Given the description of an element on the screen output the (x, y) to click on. 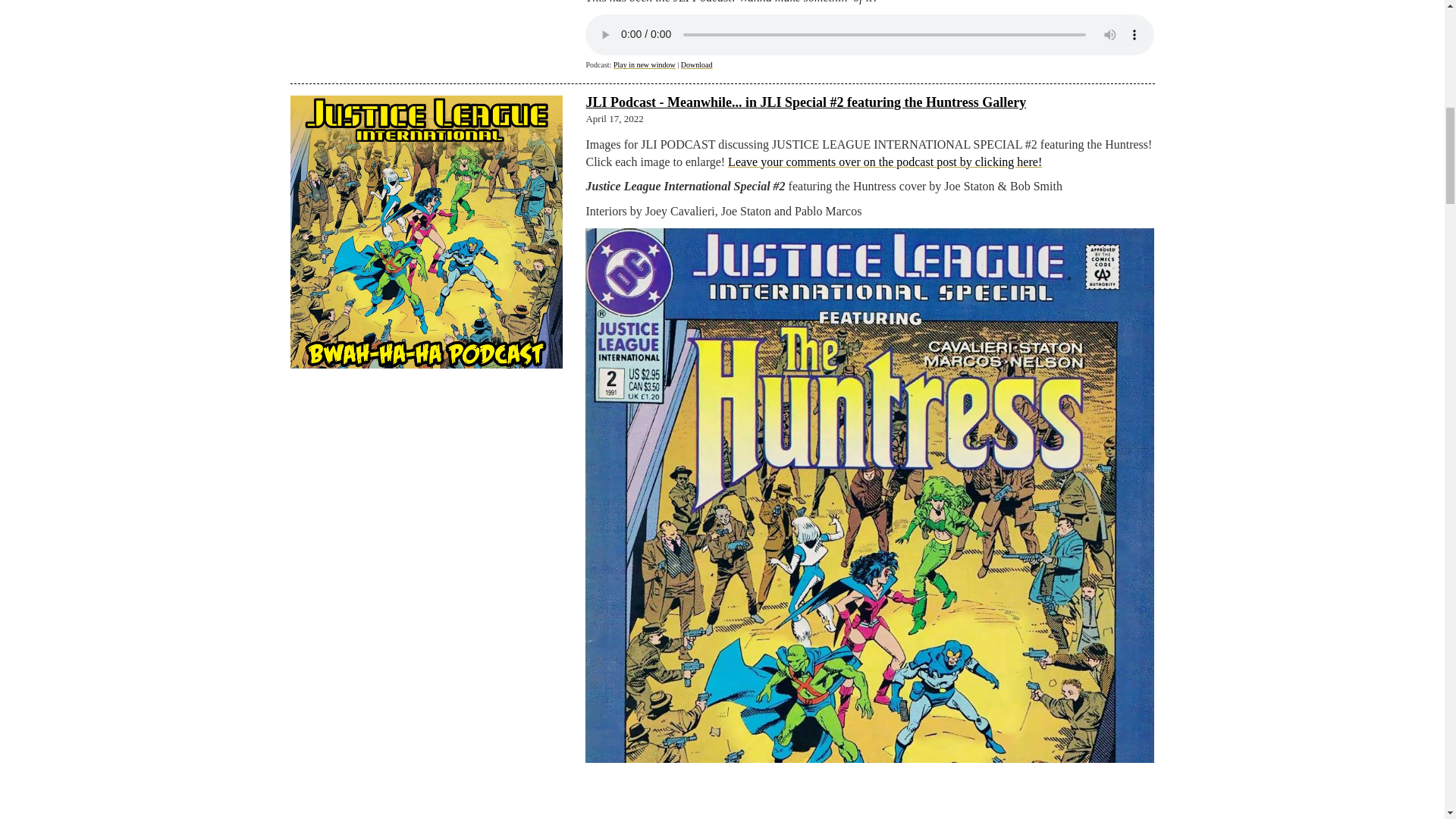
Download (697, 64)
Play in new window (643, 64)
Play in new window (643, 64)
Download (697, 64)
